Given the description of an element on the screen output the (x, y) to click on. 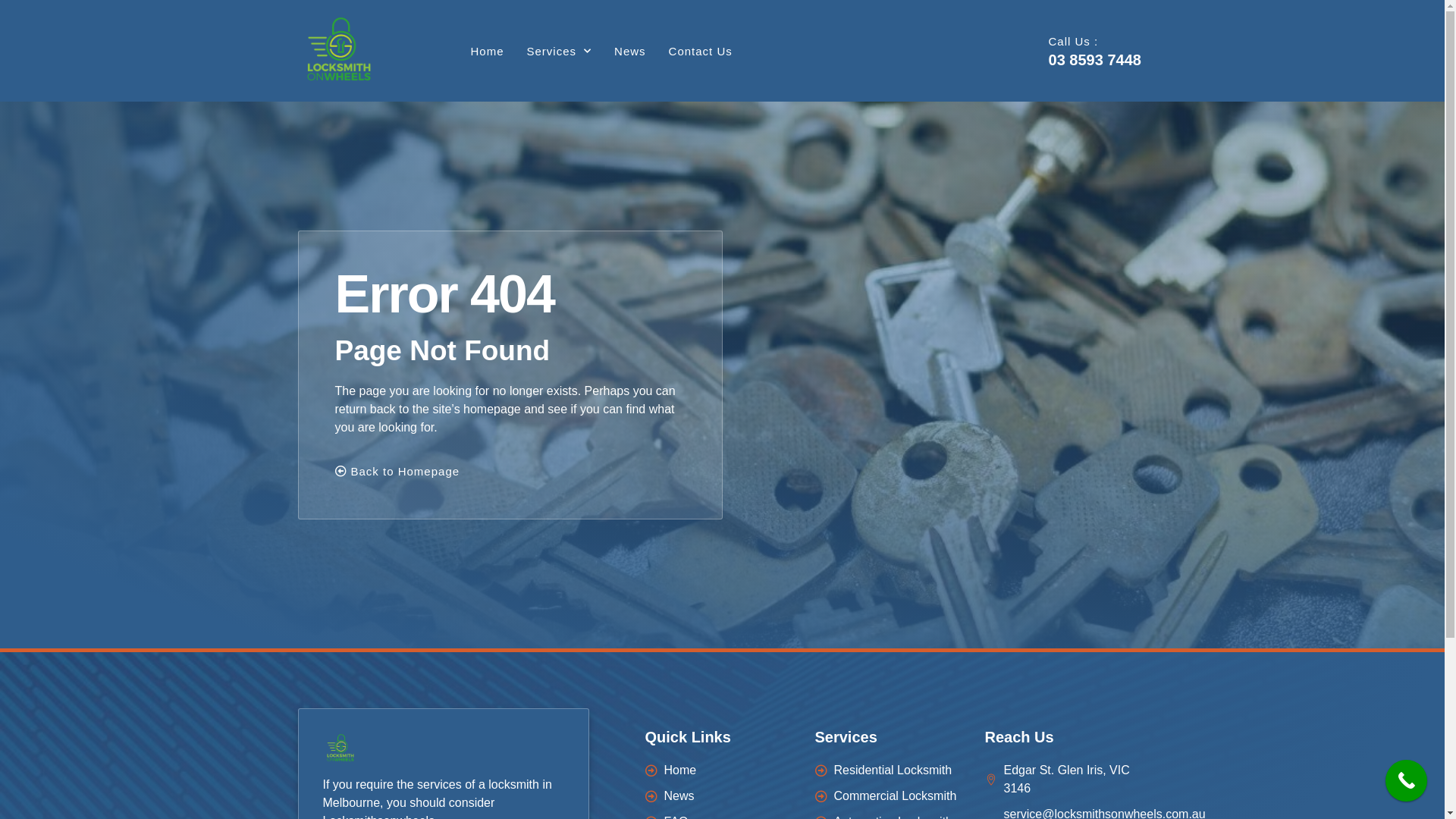
Home Element type: text (721, 770)
call Element type: text (1406, 780)
News Element type: text (721, 796)
Contact Us Element type: text (700, 50)
News Element type: text (630, 50)
Services Element type: text (559, 50)
Call Us : Element type: text (1073, 40)
Home Element type: text (486, 50)
Back to Homepage Element type: text (397, 473)
Commercial Locksmith Element type: text (891, 796)
Residential Locksmith Element type: text (891, 770)
